Given the description of an element on the screen output the (x, y) to click on. 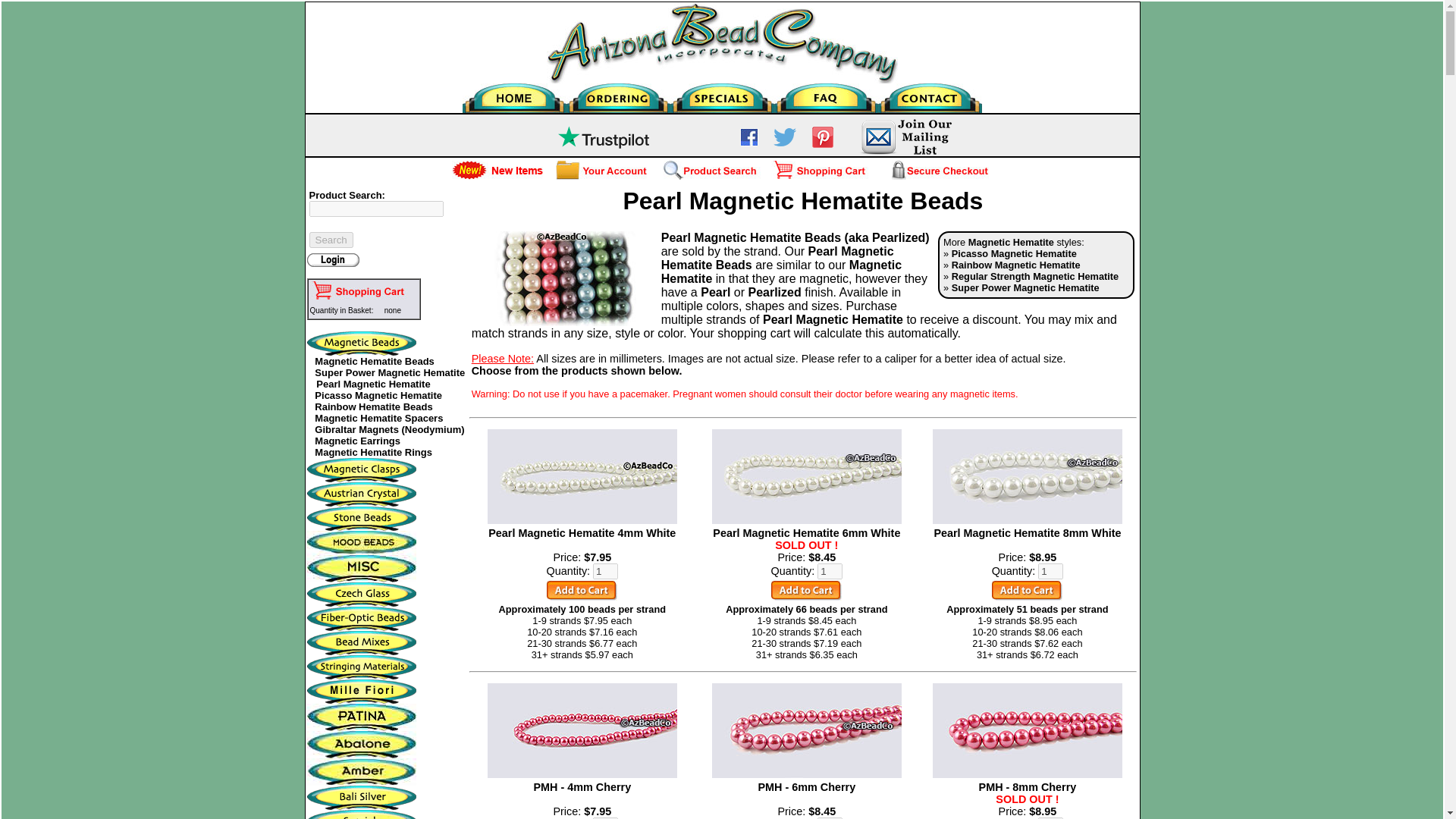
Picasso Magnetic Hematite (378, 395)
Specials and Discounted Items for Sale (721, 93)
Visit Our Facebook Page and Like Us (748, 142)
1 (604, 818)
View your Shopping Cart (359, 290)
How To Order (617, 93)
Search (330, 239)
Magnetic Hematite Rings (373, 451)
Magnetic Earrings (357, 440)
Search (330, 239)
Arizona Bead Company Home Page (514, 98)
Follow Arizona Bead Company on Twitter (784, 142)
FAQ - Frequently Asked Questions - Arizona Bead Company (825, 93)
Picasso Magnetic Hematite (1014, 253)
1 (829, 571)
